Given the description of an element on the screen output the (x, y) to click on. 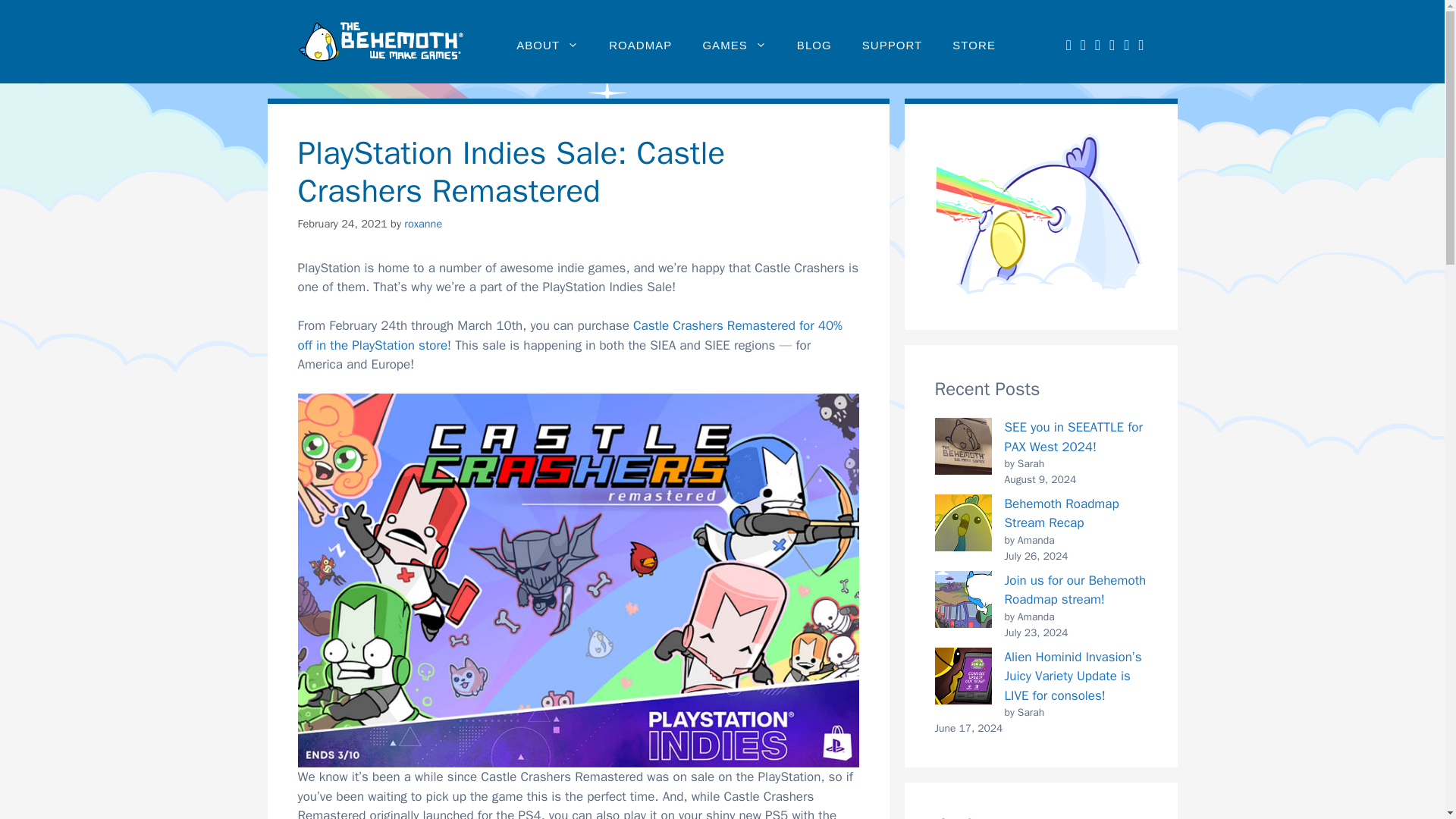
ROADMAP (640, 44)
View all posts by roxanne (423, 223)
GAMES (733, 44)
ABOUT (547, 44)
SUPPORT (892, 44)
BLOG (814, 44)
STORE (973, 44)
